Given the description of an element on the screen output the (x, y) to click on. 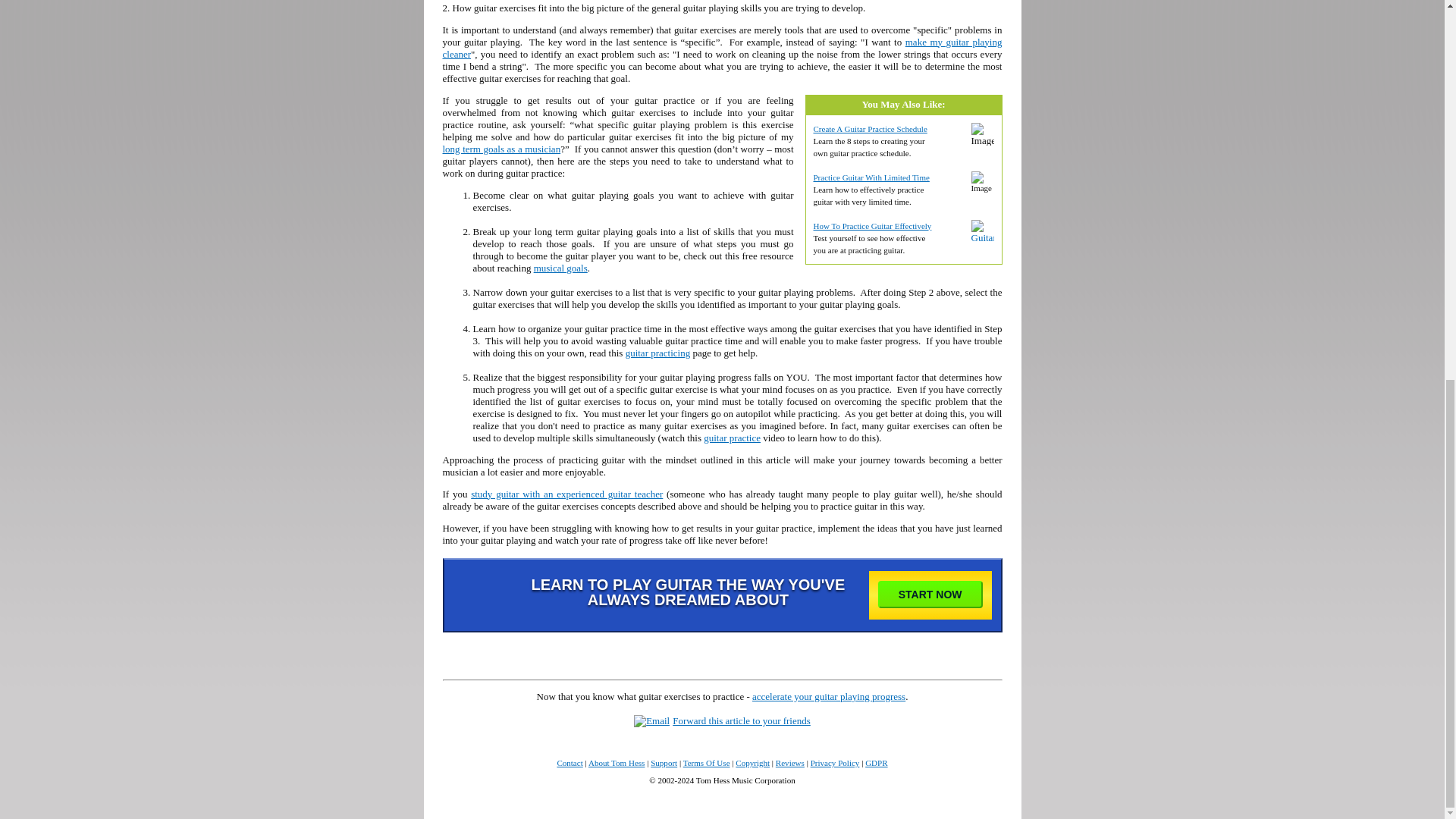
long term goals as a musician (501, 147)
guitar practice (731, 437)
About Tom Hess (616, 762)
Terms Of Use (706, 762)
Create A Guitar Practice Schedule (869, 128)
Copyright (752, 762)
Contact (569, 762)
How To Practice Guitar Effectively (871, 225)
study guitar with an experienced guitar teacher (566, 493)
Support (663, 762)
guitar practicing (658, 352)
Forward this article to your friends (741, 720)
START NOW (929, 594)
Reviews (790, 762)
musical goals (561, 267)
